Given the description of an element on the screen output the (x, y) to click on. 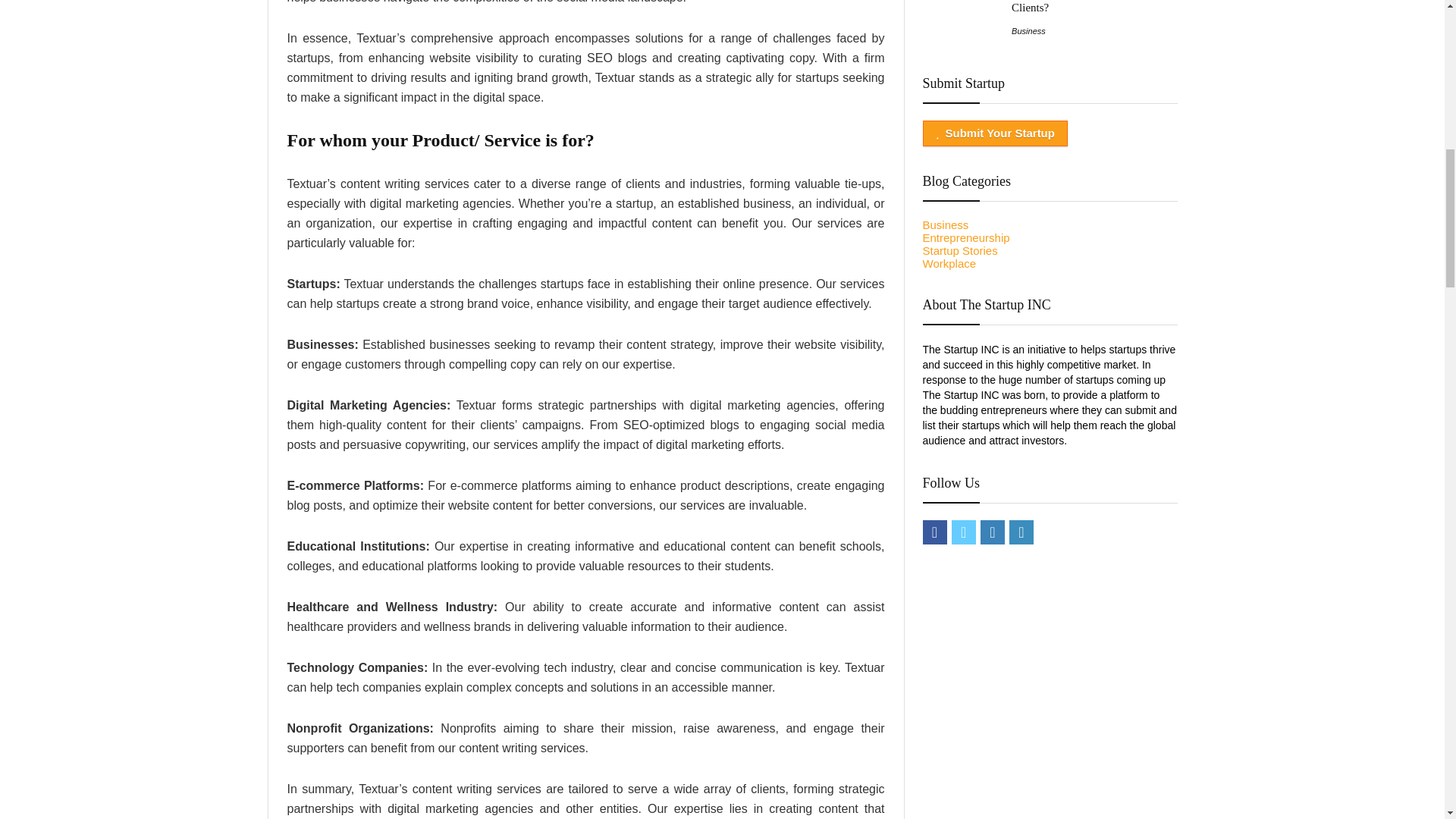
How To Follow Up With Potential Clients? (1090, 6)
Startup Stories (959, 250)
Business (944, 224)
Entrepreneurship (965, 237)
Workplace (948, 263)
Submit Your Startup (994, 133)
Business (1028, 31)
